Given the description of an element on the screen output the (x, y) to click on. 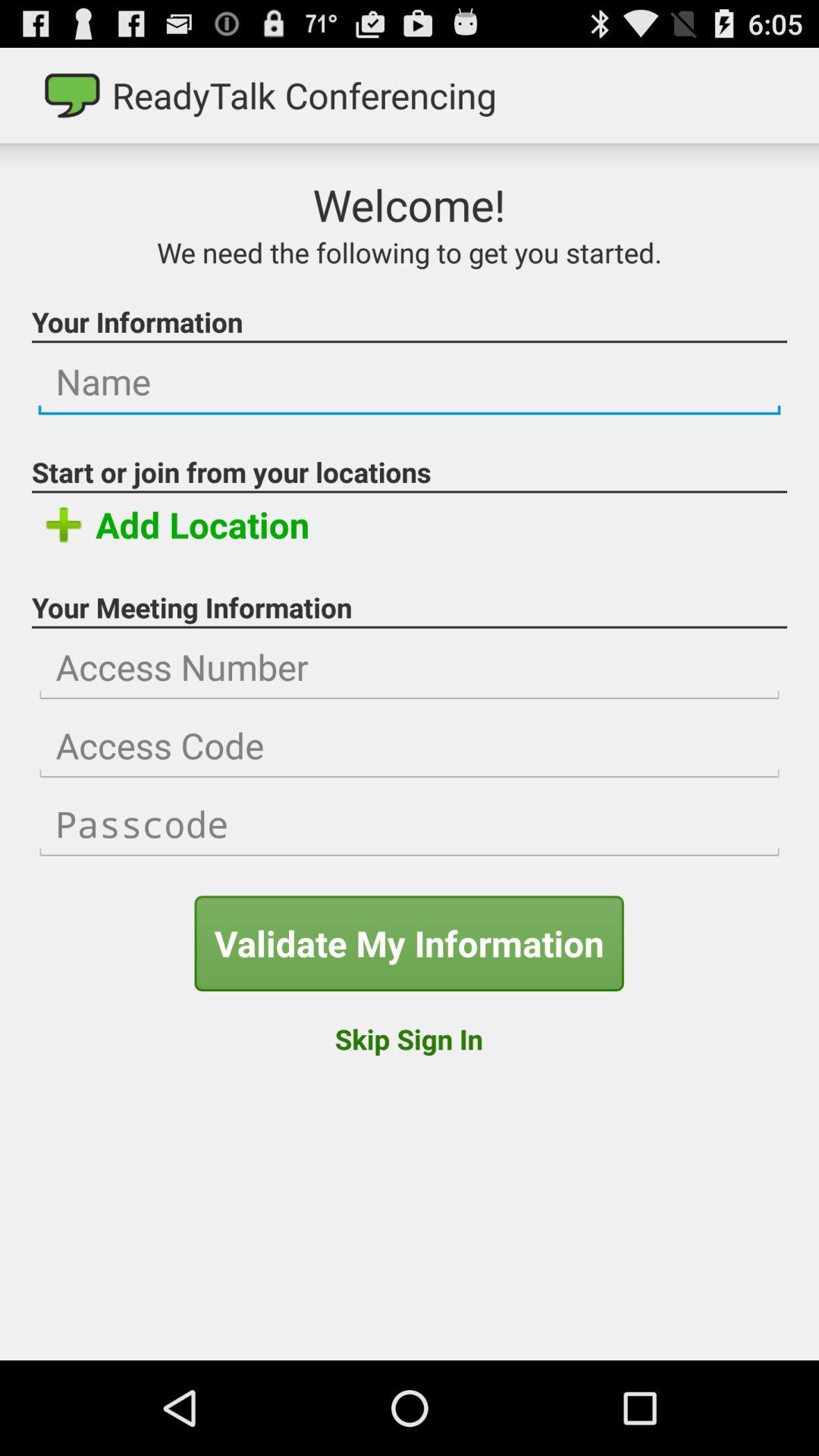
my name goes in this field (409, 381)
